Given the description of an element on the screen output the (x, y) to click on. 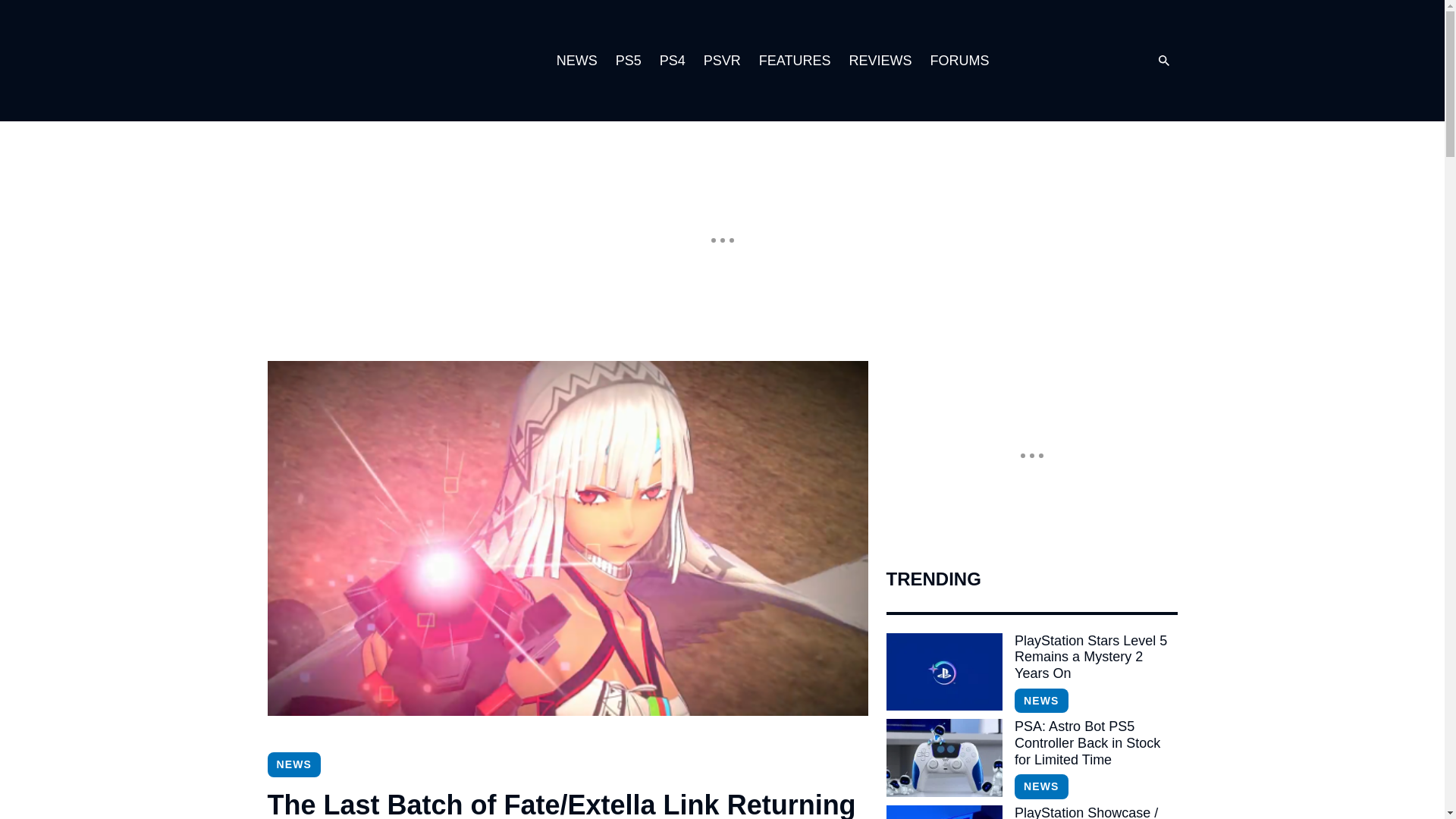
PlayStation Stars Level 5 Remains a Mystery 2 Years On (944, 671)
NEWS (577, 60)
FORUMS (958, 60)
PSVR (721, 60)
FEATURES (794, 60)
PlayStation Stars Level 5 Remains a Mystery 2 Years On (1095, 657)
NEWS (1040, 700)
Twitter (1079, 60)
NEWS (1040, 786)
PlayStation Stars Level 5 Remains a Mystery 2 Years On (1095, 657)
